Given the description of an element on the screen output the (x, y) to click on. 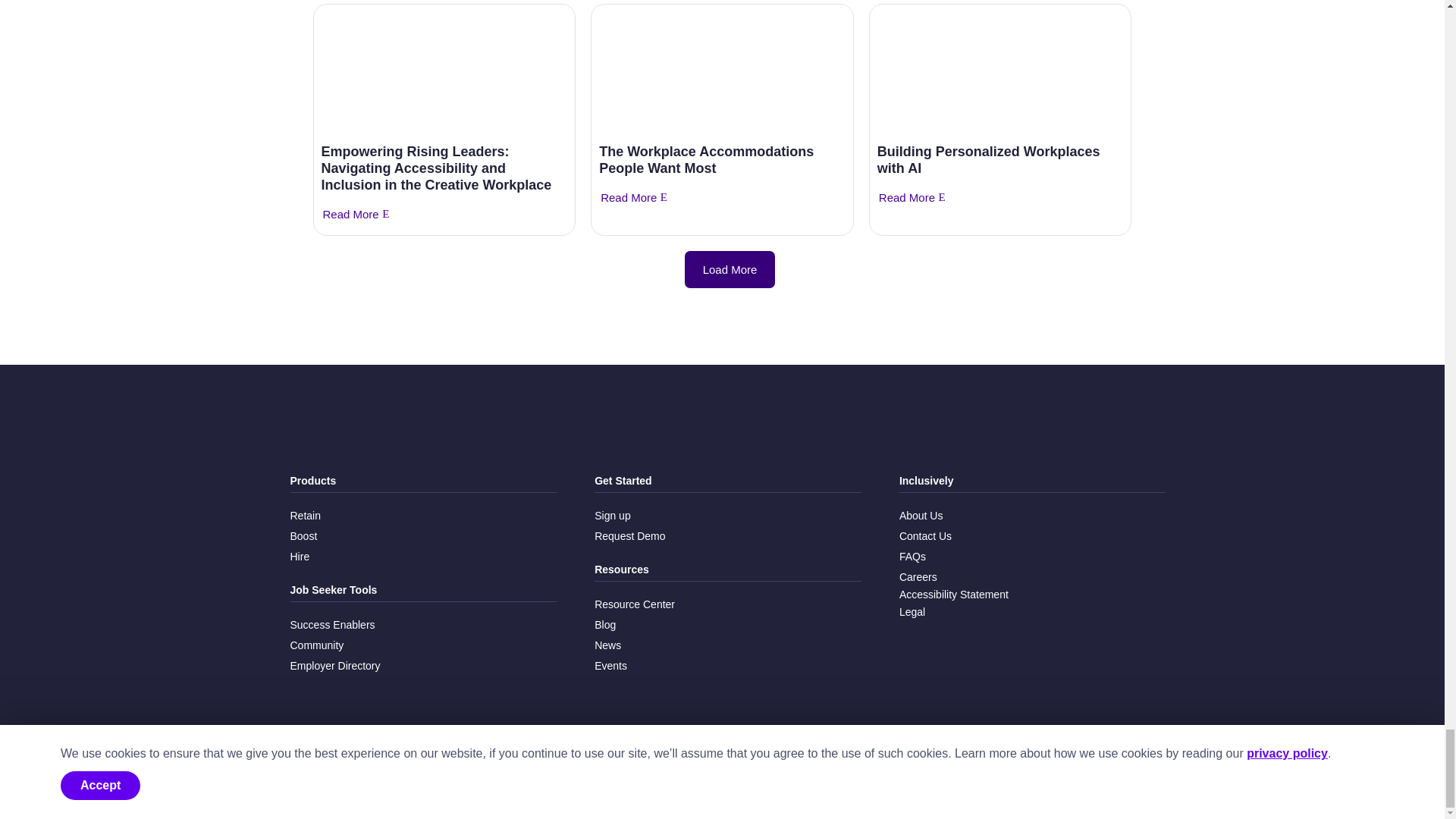
Follow on LinkedIn (1132, 771)
Follow on Instagram (1108, 771)
Read More (350, 213)
Read More (628, 198)
Follow on X (1084, 771)
Follow on Facebook (1059, 771)
Follow on TikTok (1157, 771)
